Given the description of an element on the screen output the (x, y) to click on. 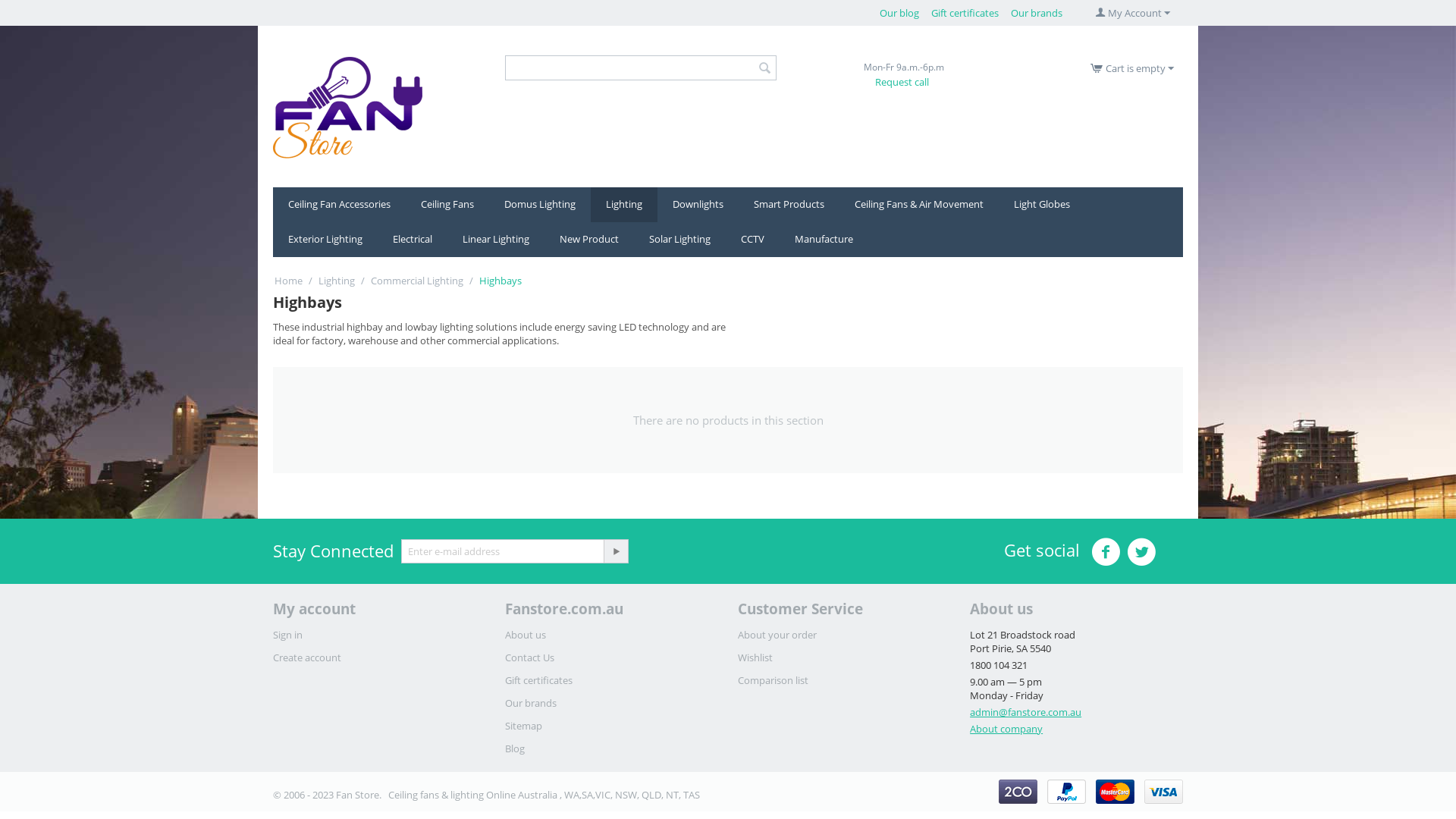
Smart Products Element type: text (788, 204)
Lighting Element type: text (336, 280)
About your order Element type: text (776, 634)
Lighting Element type: text (623, 204)
Manufacture Element type: text (823, 239)
About company Element type: text (1005, 728)
admin@fanstore.com.au Element type: text (1025, 711)
Our blog Element type: text (899, 12)
Contact Us Element type: text (529, 657)
Commercial Lighting Element type: text (416, 280)
Wishlist Element type: text (754, 657)
Light Globes Element type: text (1041, 204)
Gift certificates Element type: text (964, 12)
Gift certificates Element type: text (538, 680)
Ceiling Fans Element type: text (447, 204)
Linear Lighting Element type: text (495, 239)
Create account Element type: text (307, 657)
Electrical Element type: text (412, 239)
Blog Element type: text (514, 748)
Sign in Element type: text (287, 634)
Sitemap Element type: text (523, 725)
Home Element type: text (288, 280)
Our brands Element type: text (530, 702)
Fan Store Australia largest online ceiling Fan store Element type: hover (347, 105)
Search Element type: hover (640, 67)
Domus Lighting Element type: text (539, 204)
Our brands Element type: text (1036, 12)
Fan Store Australia largest online ceiling Fan store Element type: hover (347, 107)
Solar Lighting Element type: text (679, 239)
Ceiling Fans & Air Movement Element type: text (918, 204)
New Product Element type: text (588, 239)
 My Account Element type: text (1132, 12)
CCTV Element type: text (752, 239)
Ceiling Fan Accessories Element type: text (339, 204)
Go Element type: hover (615, 550)
Cart is empty Element type: text (1131, 68)
About us Element type: text (525, 634)
Search Element type: hover (764, 68)
Downlights Element type: text (697, 204)
Comparison list Element type: text (772, 680)
Exterior Lighting Element type: text (325, 239)
Request call Element type: text (901, 81)
